Given the description of an element on the screen output the (x, y) to click on. 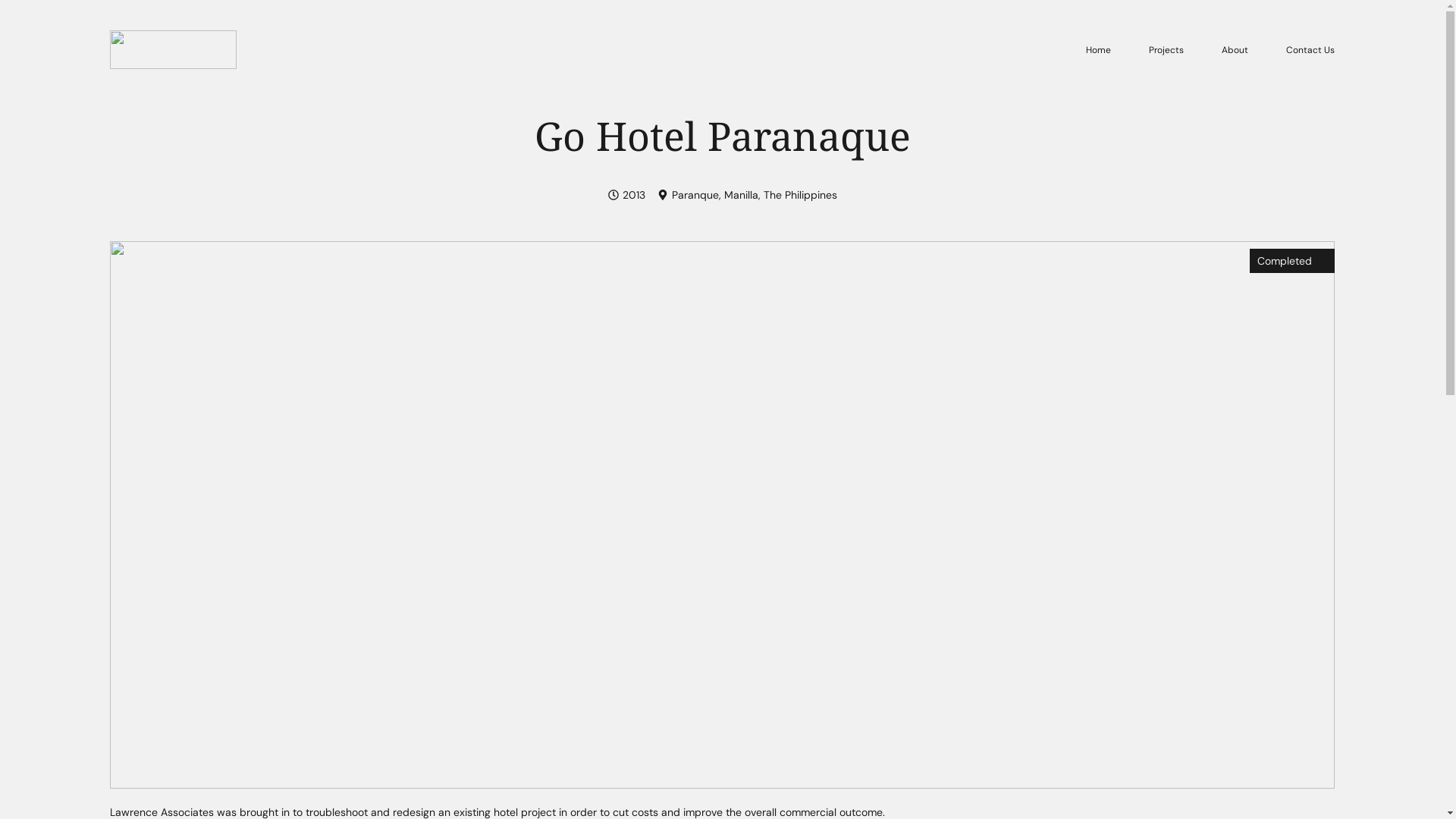
Projects Element type: text (1165, 49)
Home Element type: text (1097, 49)
About Element type: text (1234, 49)
Contact Us Element type: text (1310, 49)
